Given the description of an element on the screen output the (x, y) to click on. 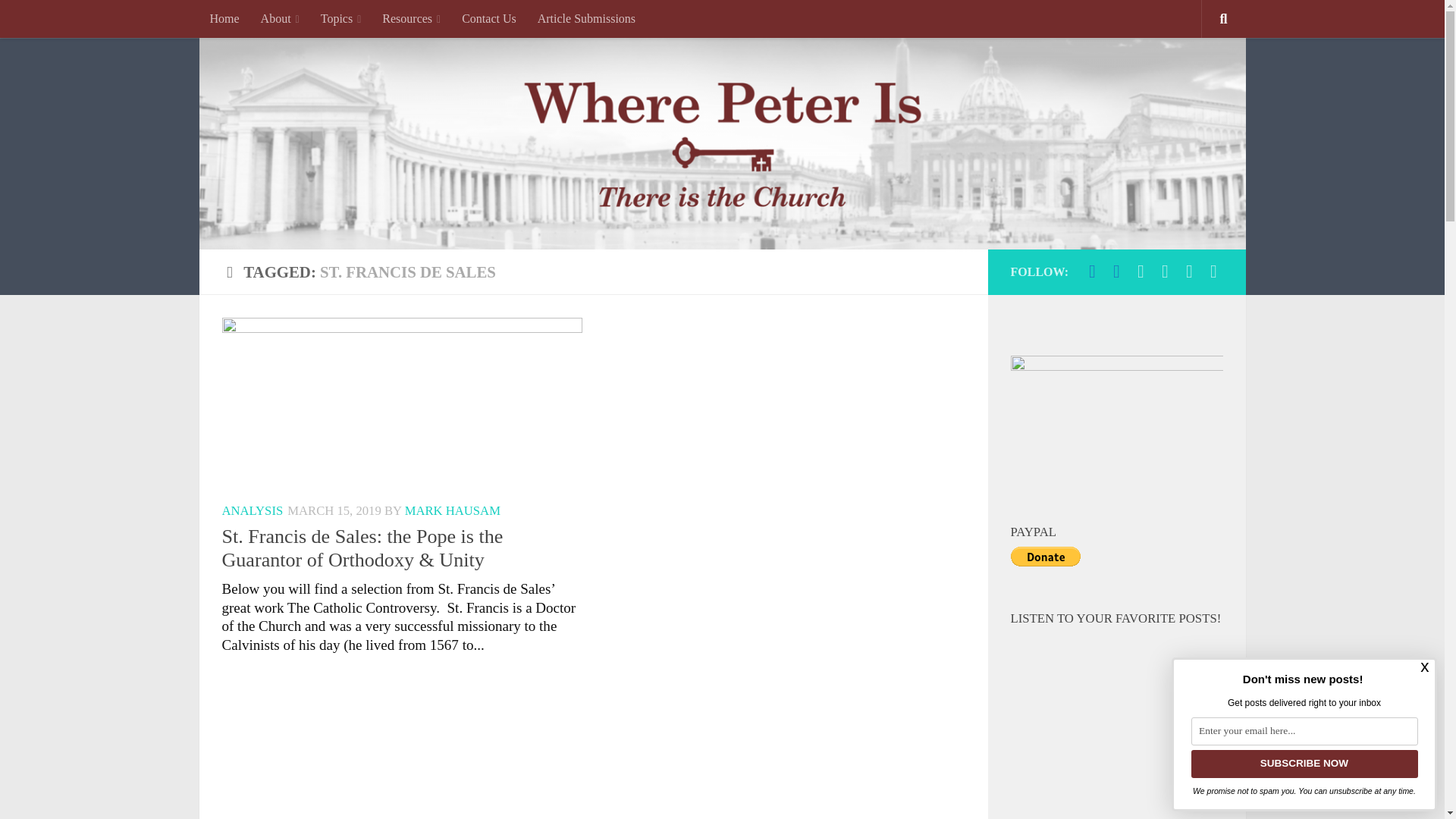
Follow us on Soundcloud (1188, 271)
PayPal - The safer, easier way to pay online! (1045, 556)
Contact Us (489, 18)
Follow us on Youtube (1140, 271)
Home (223, 18)
RSS Feed (1164, 271)
Follow us on Twitter (1115, 271)
Skip to content (66, 22)
Resources (411, 18)
Follow us on Facebook (1091, 271)
